Given the description of an element on the screen output the (x, y) to click on. 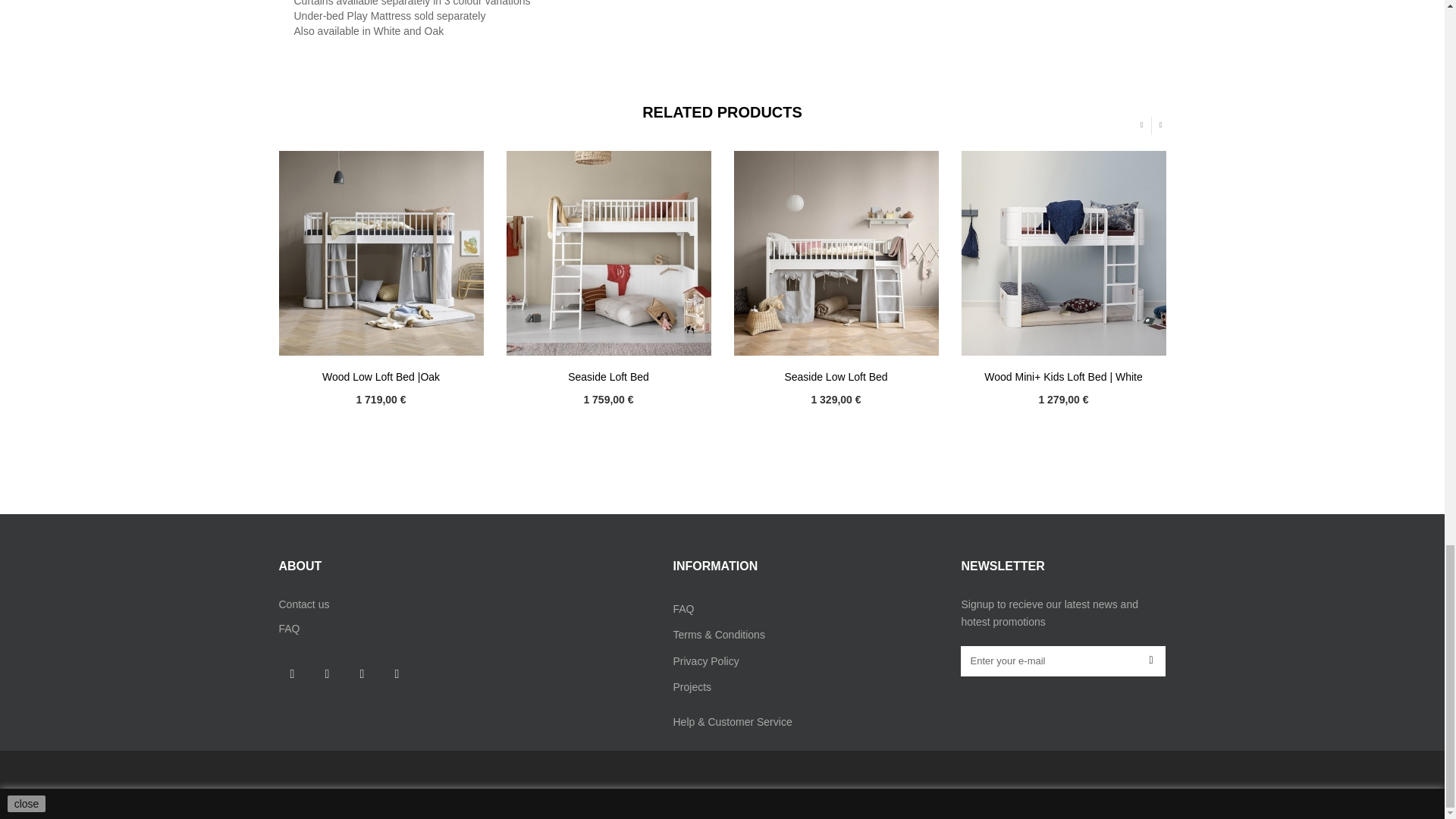
Enter your e-mail (1063, 661)
